Given the description of an element on the screen output the (x, y) to click on. 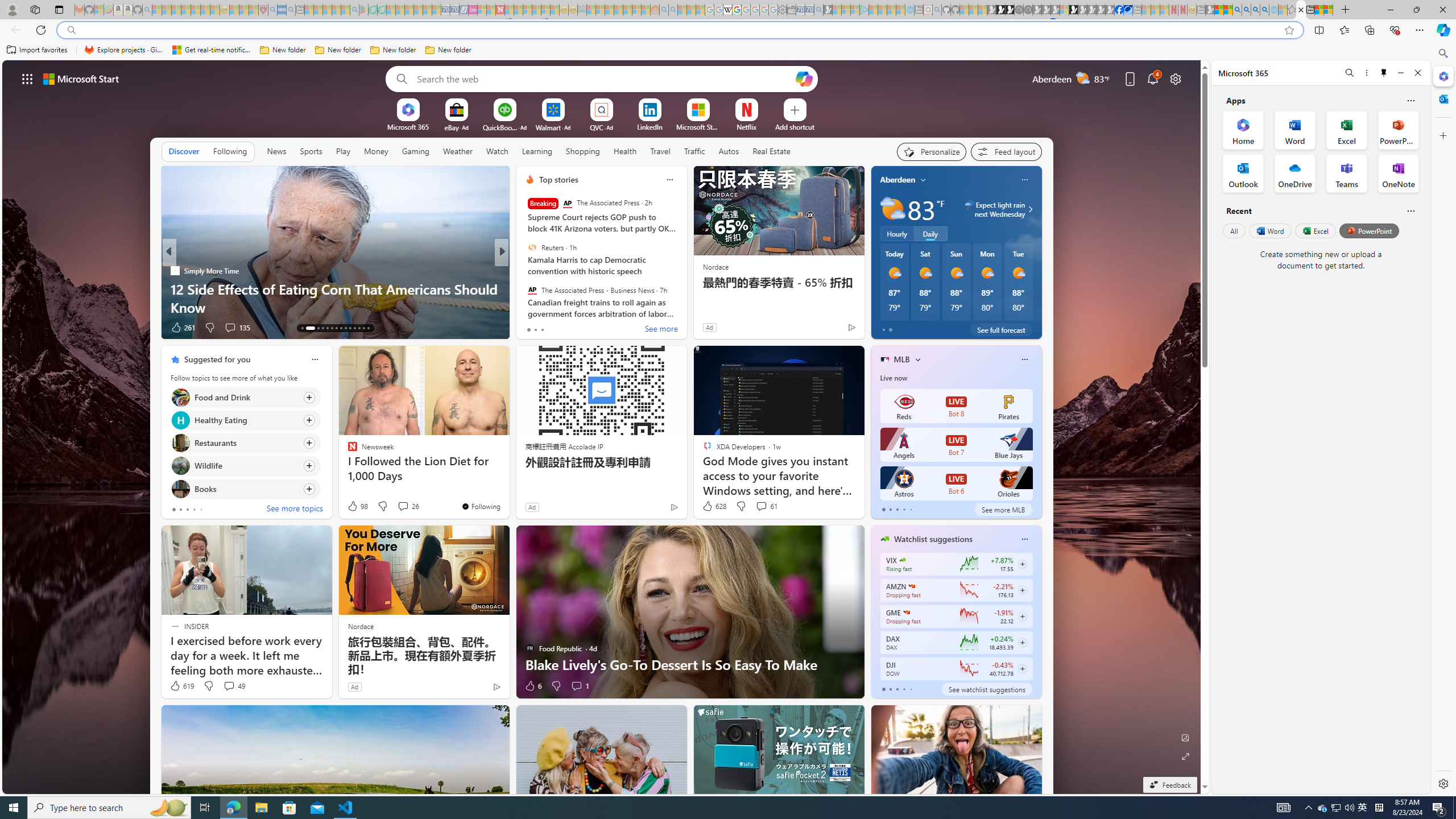
Expect light rain next Wednesday (1028, 208)
659 Like (532, 327)
Reuters (532, 247)
Aberdeen (897, 179)
View comments 2 Comment (580, 327)
Books (180, 488)
